Given the description of an element on the screen output the (x, y) to click on. 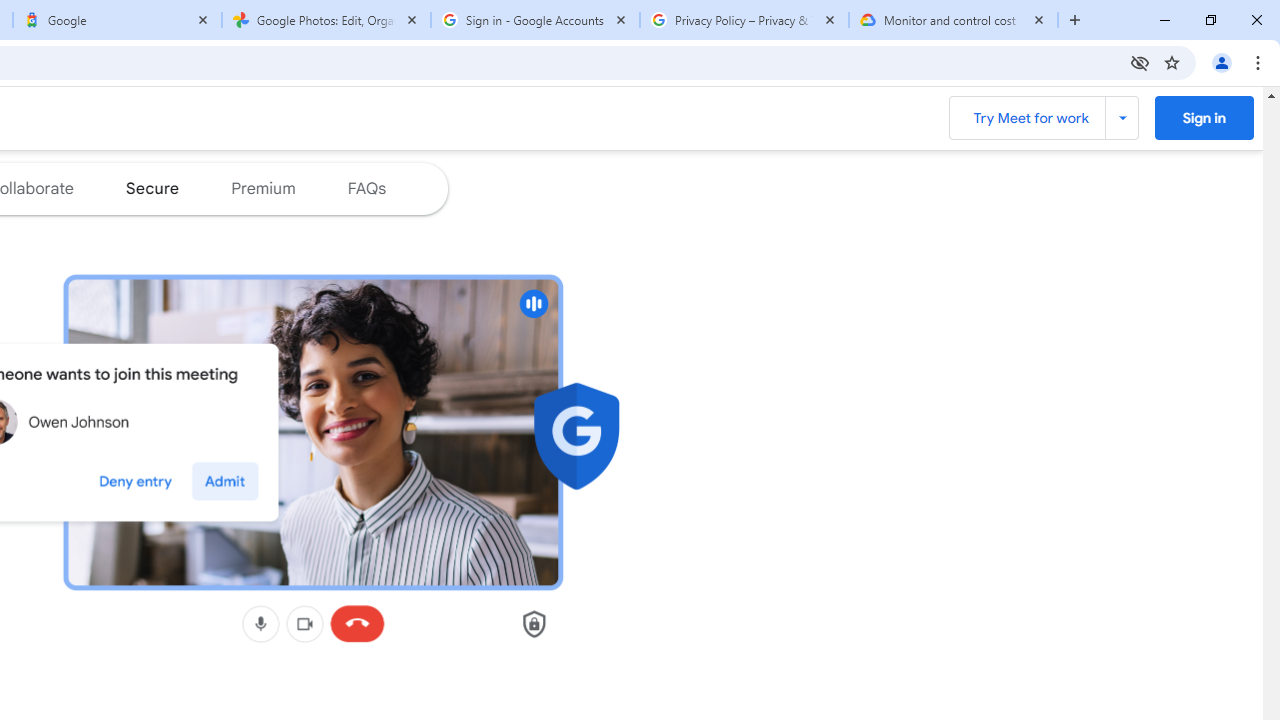
Sign into Google Meet  (1204, 117)
